Given the description of an element on the screen output the (x, y) to click on. 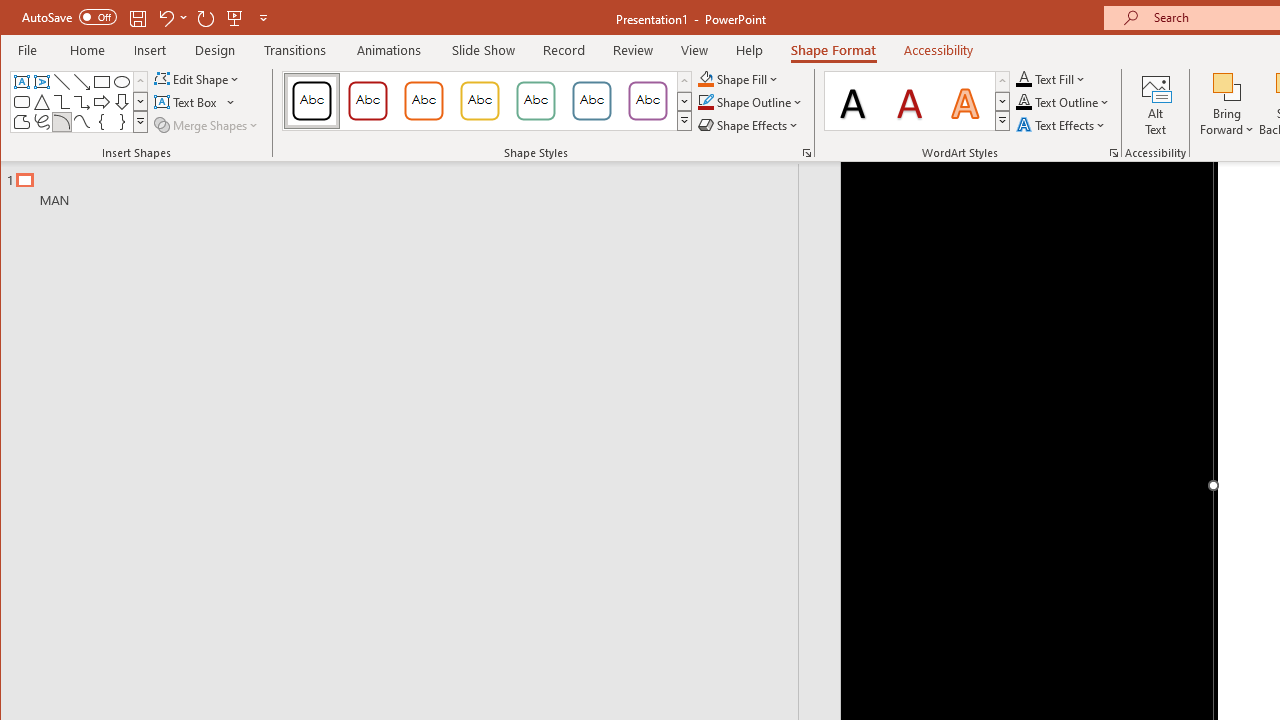
Merge Shapes (207, 124)
Line Arrow (81, 82)
Text Fill (1051, 78)
Curve (81, 121)
Freeform: Scribble (42, 121)
Text Box (21, 82)
More Options (1227, 123)
Outline (408, 185)
Colored Outline - Dark Red, Accent 1 (367, 100)
Arrow: Right (102, 102)
Alt Text (1156, 104)
Fill: Dark Red, Accent color 1; Shadow (909, 100)
Right Brace (121, 121)
